Given the description of an element on the screen output the (x, y) to click on. 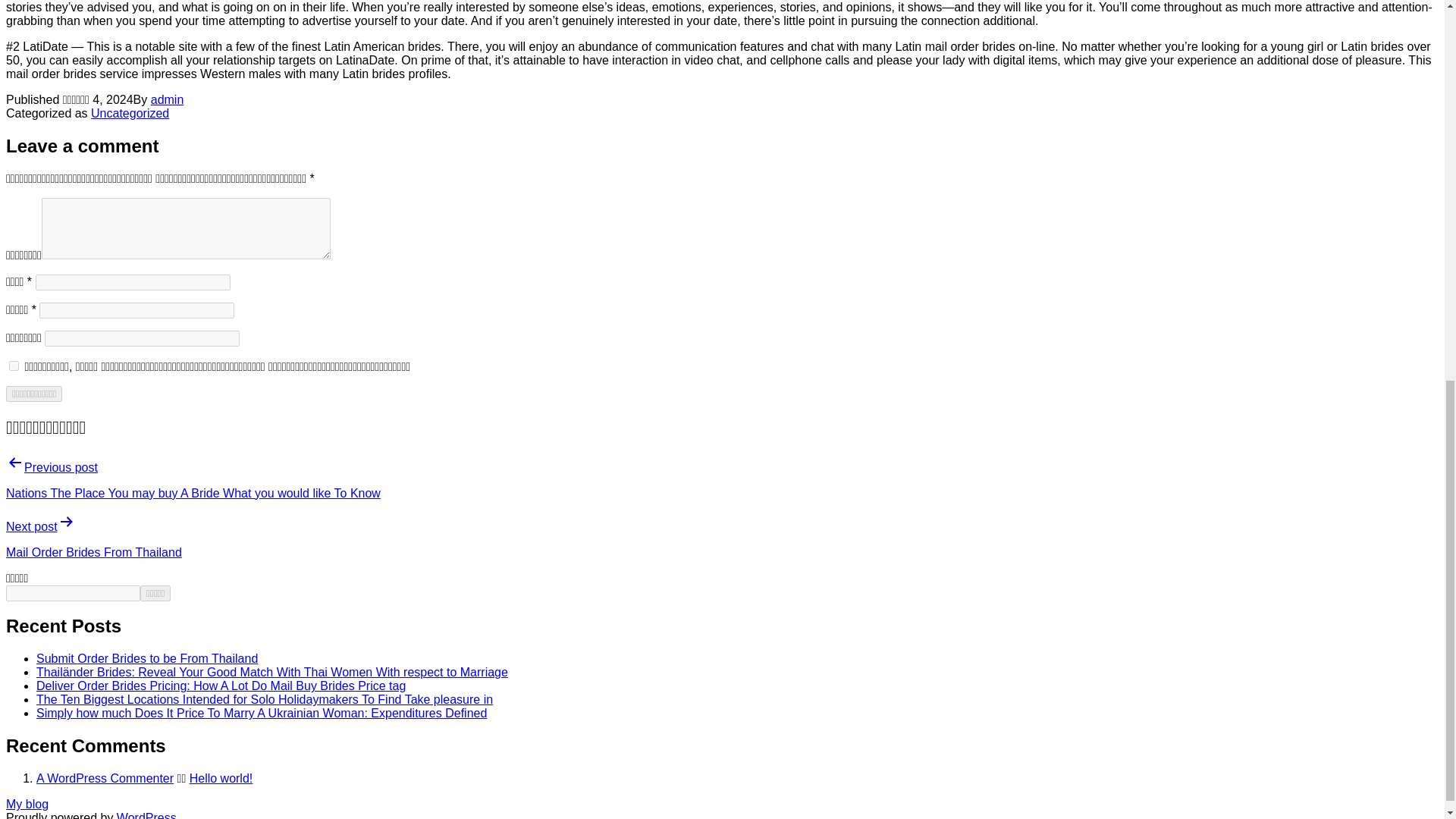
yes (13, 366)
Uncategorized (129, 113)
My blog (26, 803)
Hello world! (221, 778)
Submit Order Brides to be From Thailand (146, 658)
admin (167, 99)
A WordPress Commenter (104, 778)
